Given the description of an element on the screen output the (x, y) to click on. 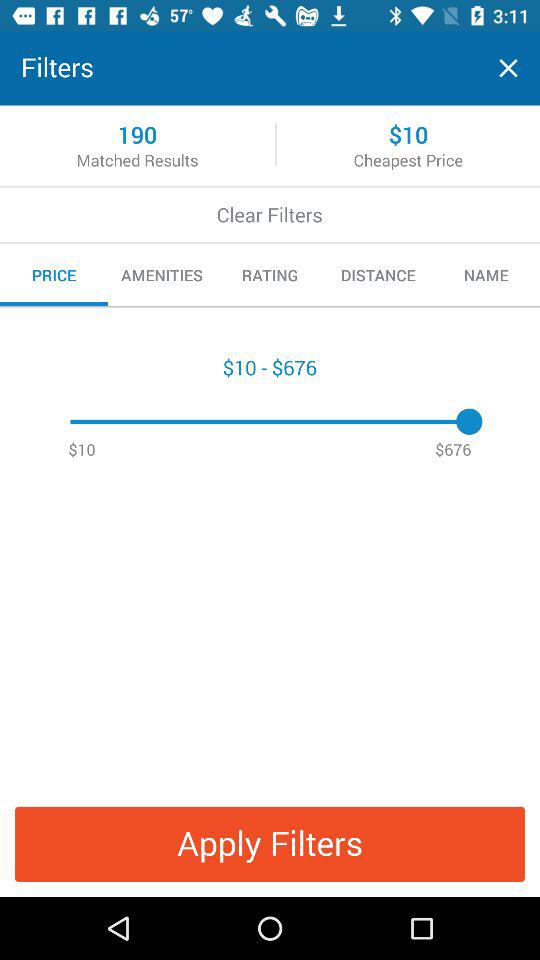
select the item to the left of distance (270, 275)
